Given the description of an element on the screen output the (x, y) to click on. 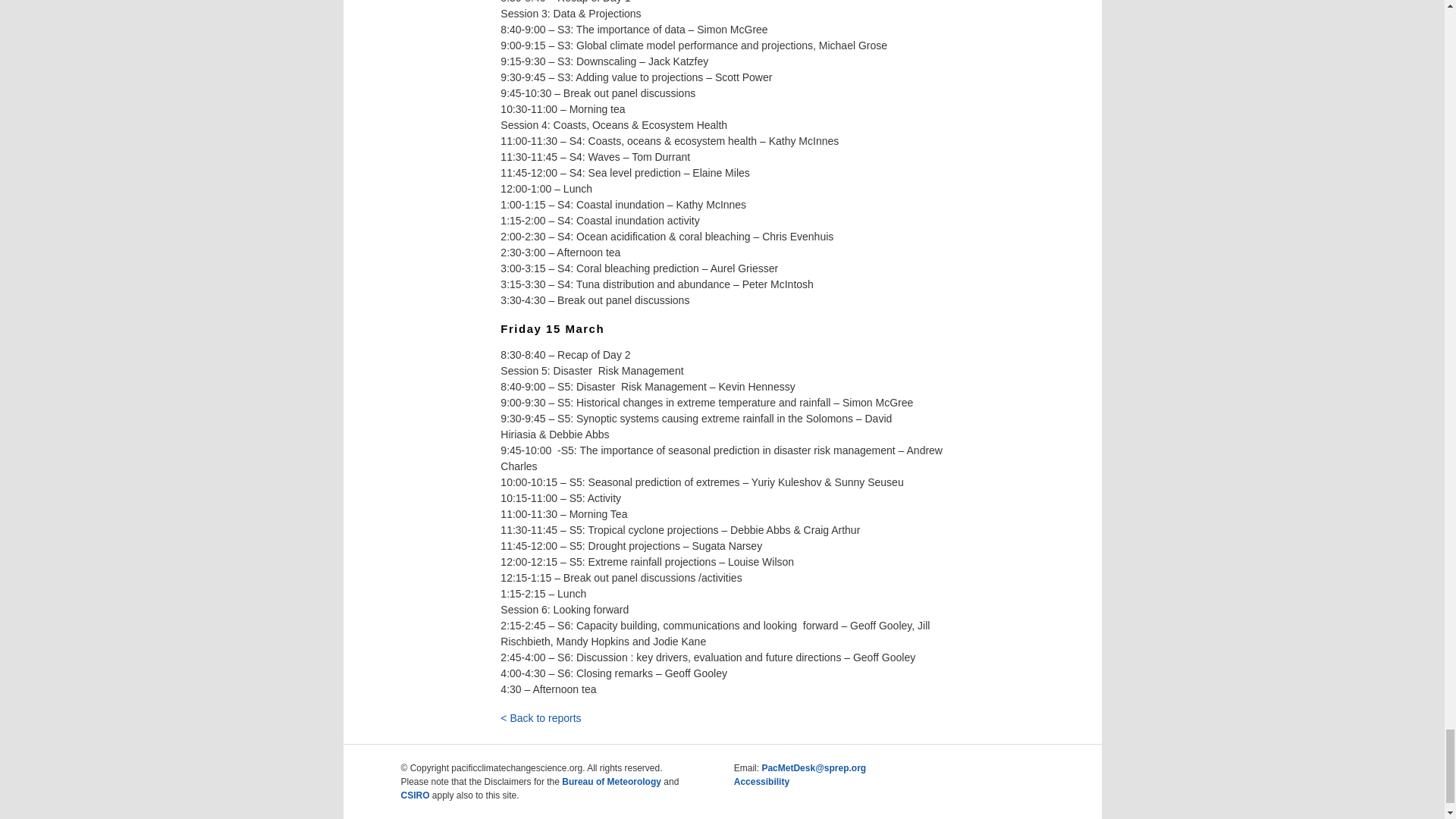
Accessibility (761, 781)
Accessibility Information (761, 781)
Reports (540, 717)
CSIRO website (414, 795)
Bureau of Meteorology (611, 781)
email PacMetDesk (813, 767)
Bureau of Meteorology website (611, 781)
CSIRO (414, 795)
